Given the description of an element on the screen output the (x, y) to click on. 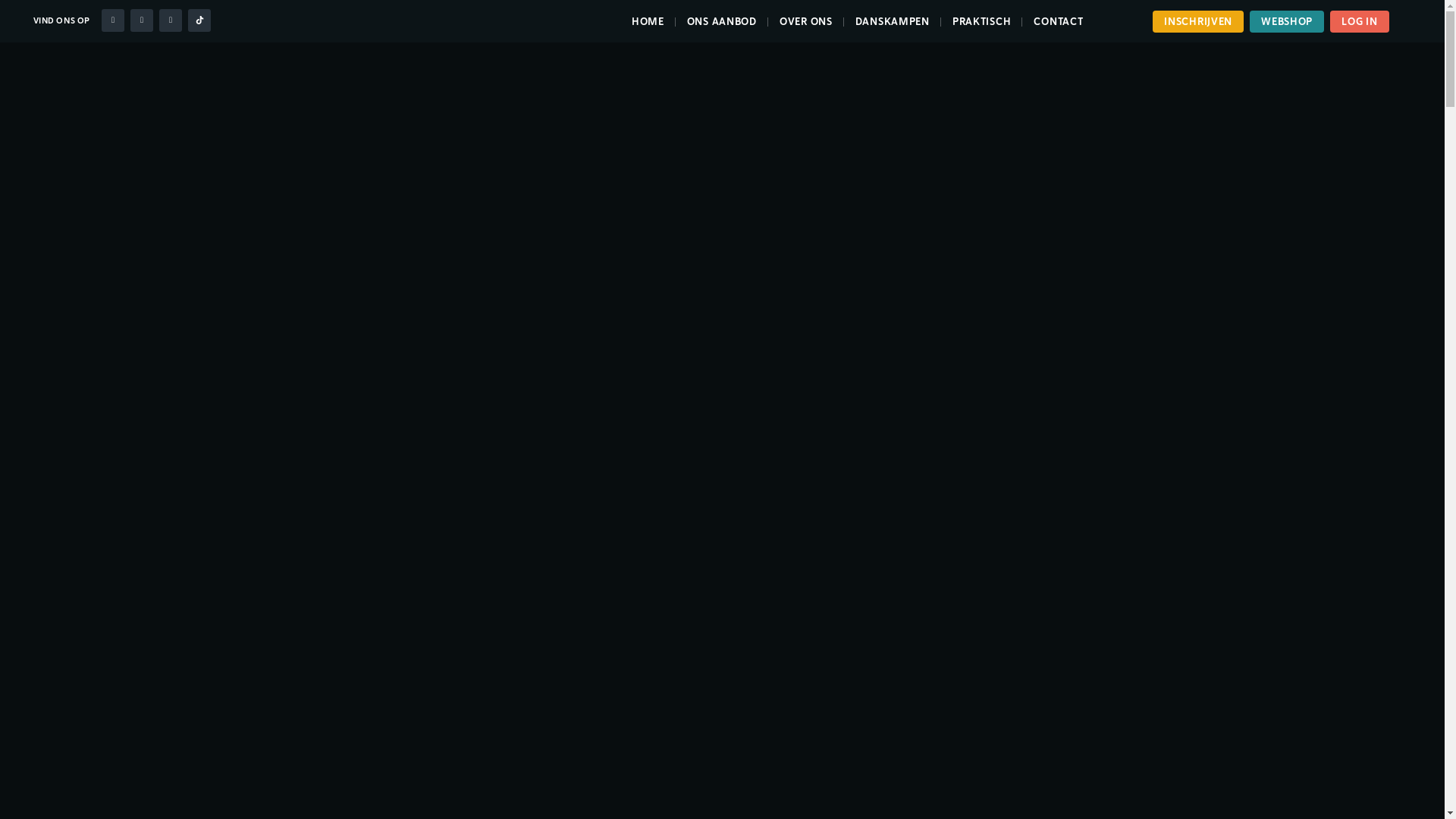
OVER ONS Element type: text (805, 21)
INSCHRIJVEN Element type: text (1197, 21)
CONTACT Element type: text (1057, 21)
HOME Element type: text (647, 21)
LOG IN Element type: text (1359, 21)
ONS AANBOD Element type: text (721, 21)
PRAKTISCH Element type: text (981, 21)
DANSKAMPEN Element type: text (892, 21)
WEBSHOP Element type: text (1286, 21)
